Given the description of an element on the screen output the (x, y) to click on. 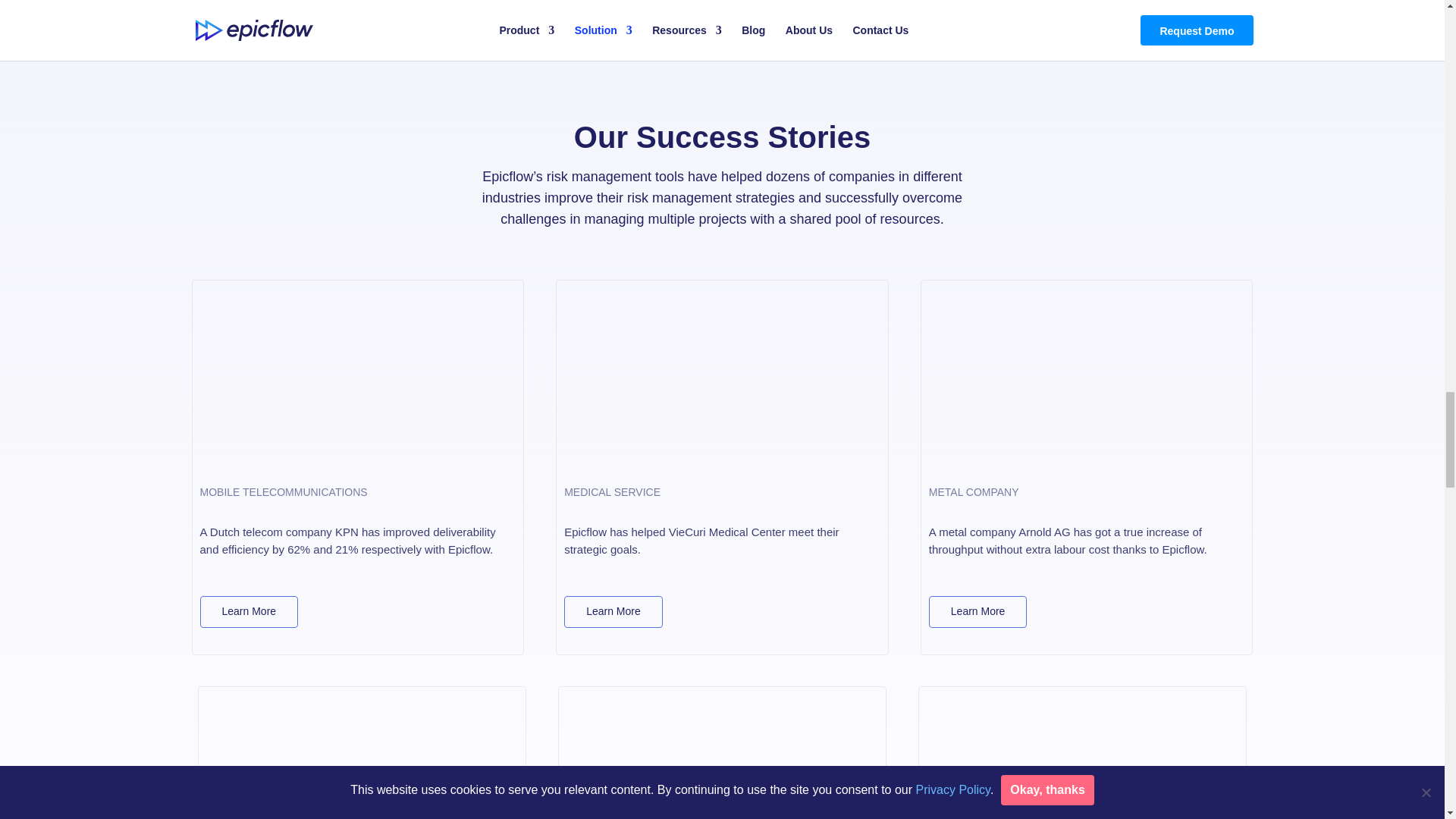
vieCurl logo (842, 614)
case 04 (362, 756)
case 02 (722, 378)
kpn logo (479, 613)
case 01 (358, 378)
case 03 (1086, 378)
